Given the description of an element on the screen output the (x, y) to click on. 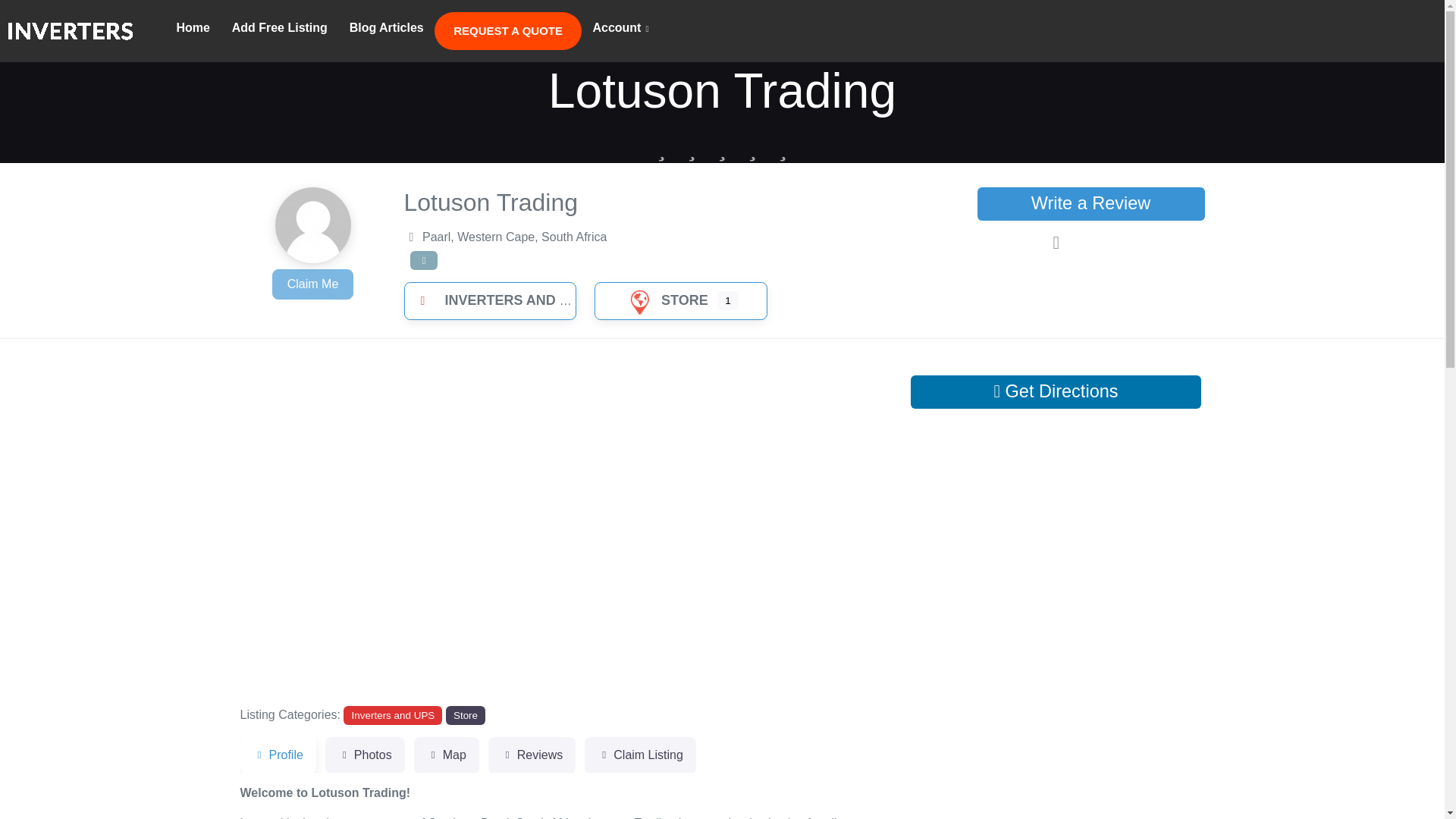
Profile (277, 755)
Reviews (531, 755)
Home (193, 28)
Get Directions (1055, 391)
Map (446, 755)
Store (464, 714)
Claim Me (312, 284)
Reviews (531, 755)
Inverters and UPS (392, 714)
REQUEST A QUOTE (506, 30)
